Given the description of an element on the screen output the (x, y) to click on. 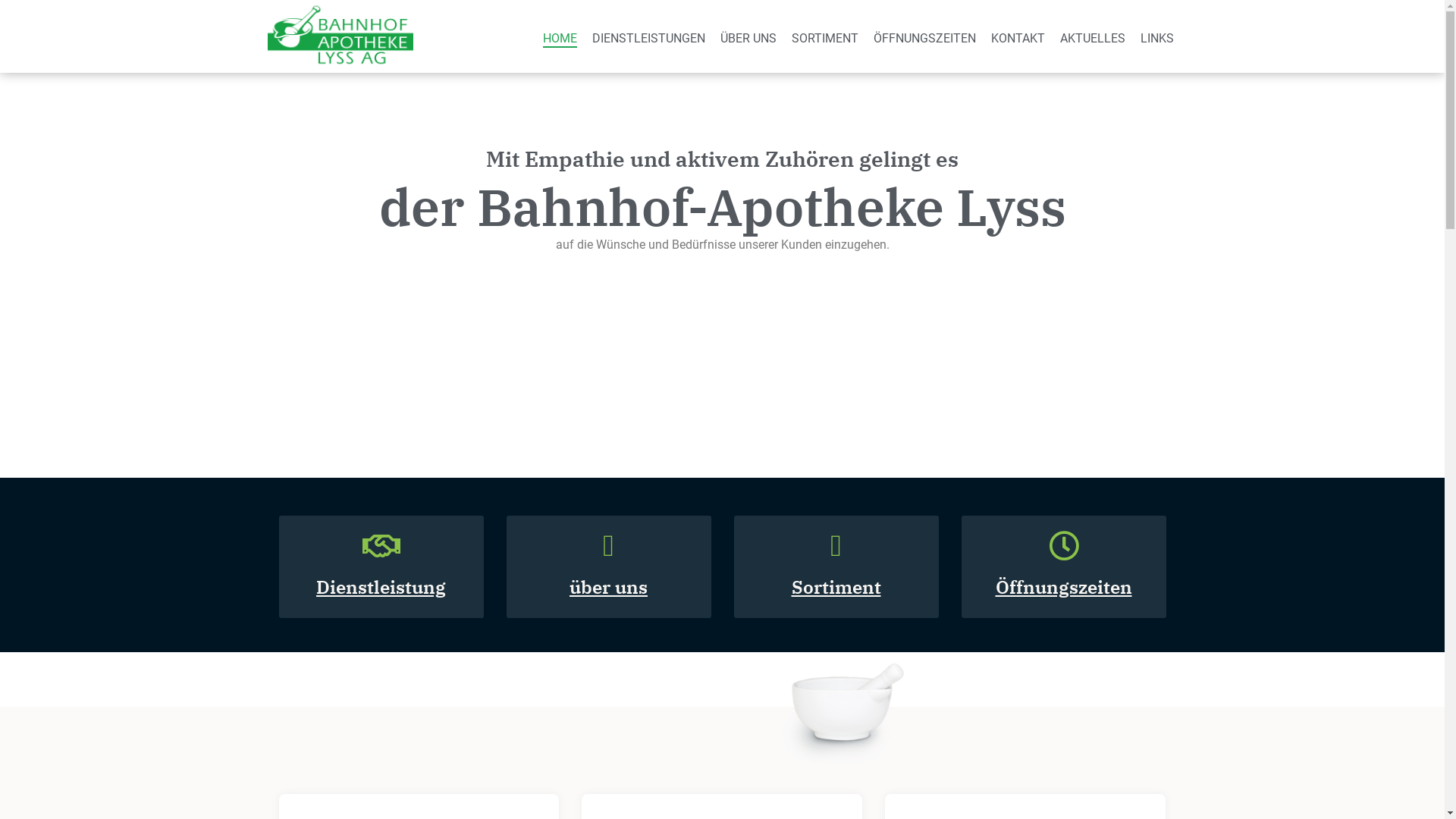
Sortiment Element type: text (836, 586)
LINKS Element type: text (1156, 38)
KONTAKT Element type: text (1017, 38)
HOME Element type: text (559, 38)
SORTIMENT Element type: text (824, 38)
DIENSTLEISTUNGEN Element type: text (648, 38)
AKTUELLES Element type: text (1092, 38)
Dienstleistung Element type: text (380, 586)
